Given the description of an element on the screen output the (x, y) to click on. 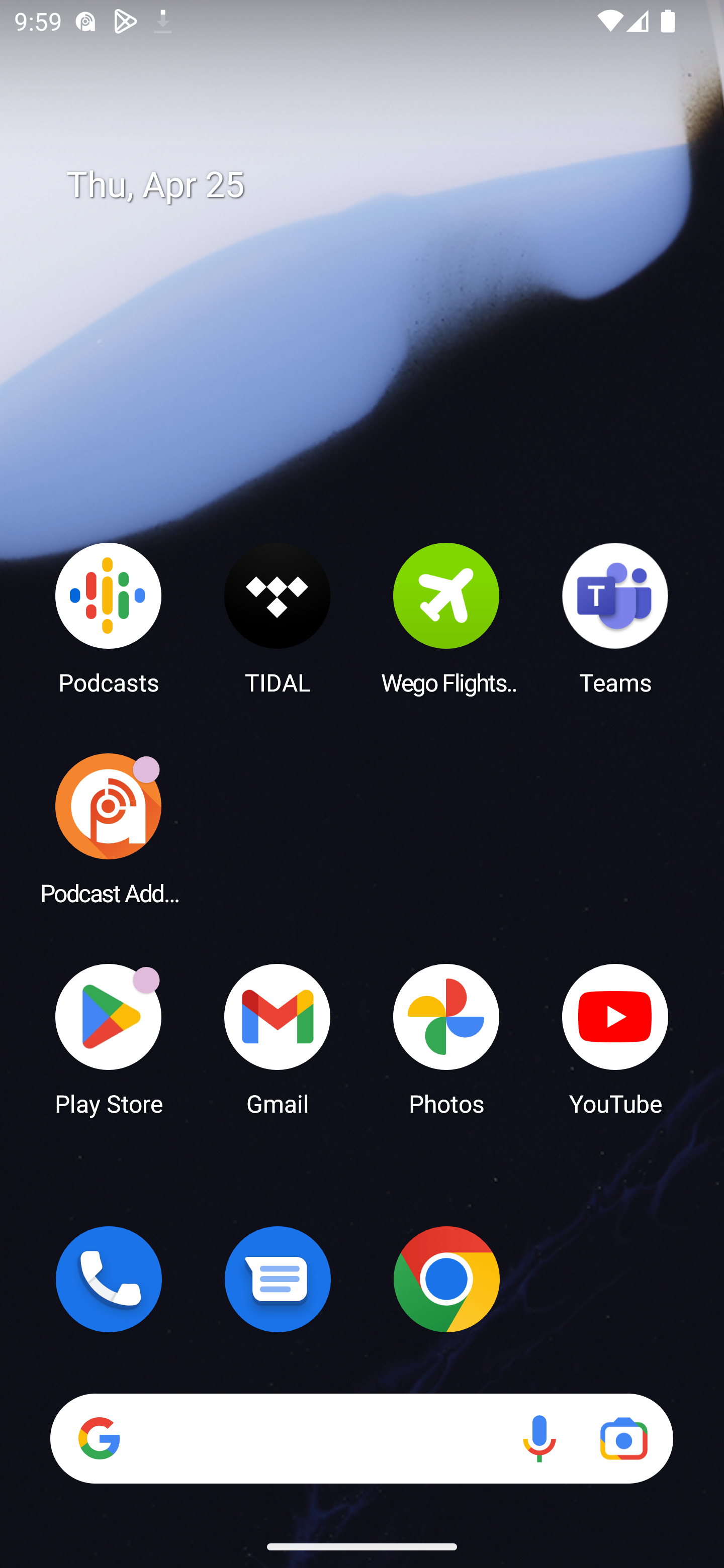
Thu, Apr 25 (375, 184)
Podcasts (108, 617)
TIDAL (277, 617)
Wego Flights & Hotels (445, 617)
Teams (615, 617)
Play Store Play Store has 1 notification (108, 1038)
Gmail (277, 1038)
Photos (445, 1038)
YouTube (615, 1038)
Phone (108, 1279)
Messages (277, 1279)
Chrome (446, 1279)
Search Voice search Google Lens (361, 1438)
Voice search (539, 1438)
Google Lens (623, 1438)
